Given the description of an element on the screen output the (x, y) to click on. 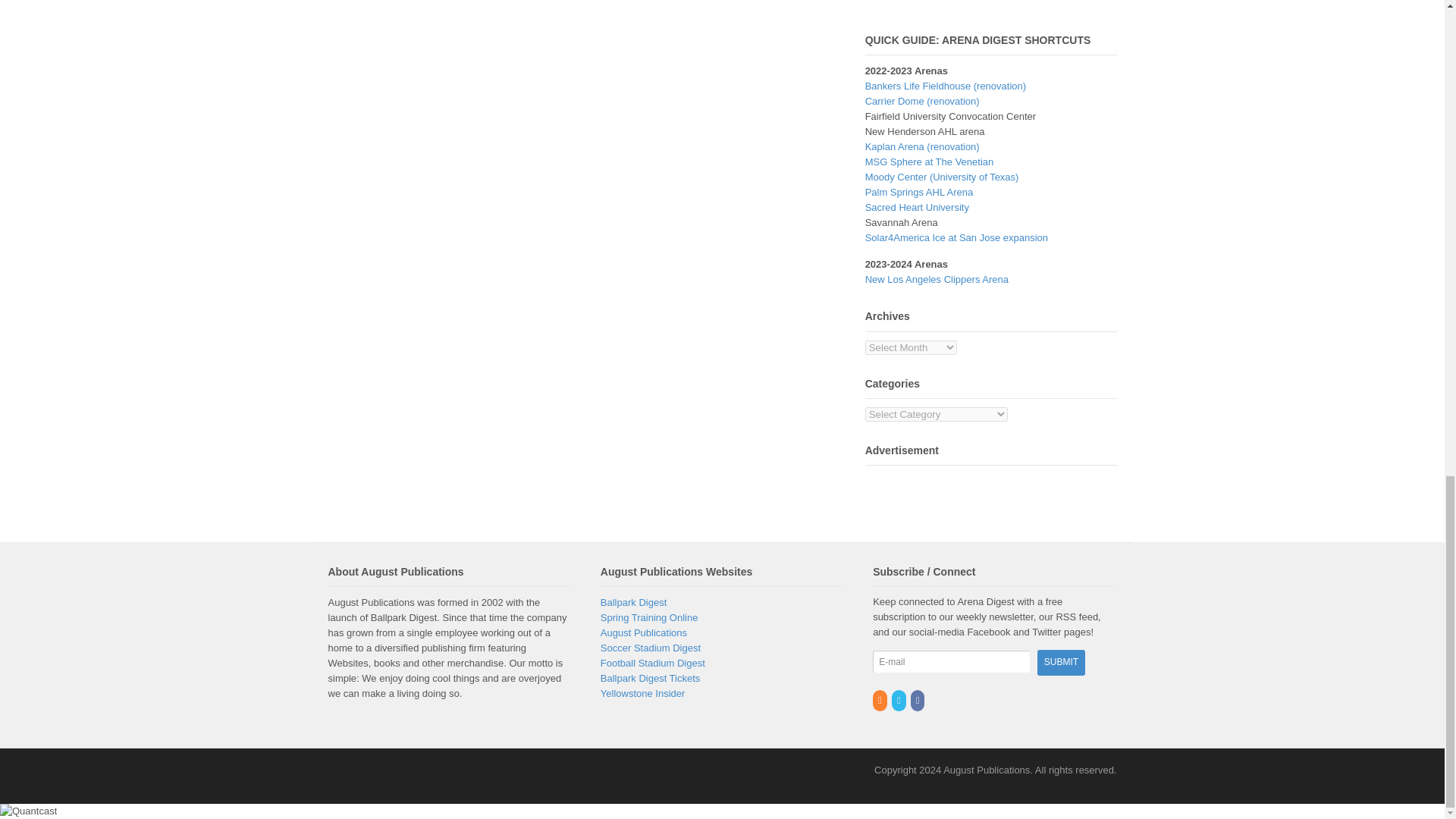
RSS (880, 700)
E-mail (951, 661)
Submit (1060, 662)
Twitter (899, 700)
